Given the description of an element on the screen output the (x, y) to click on. 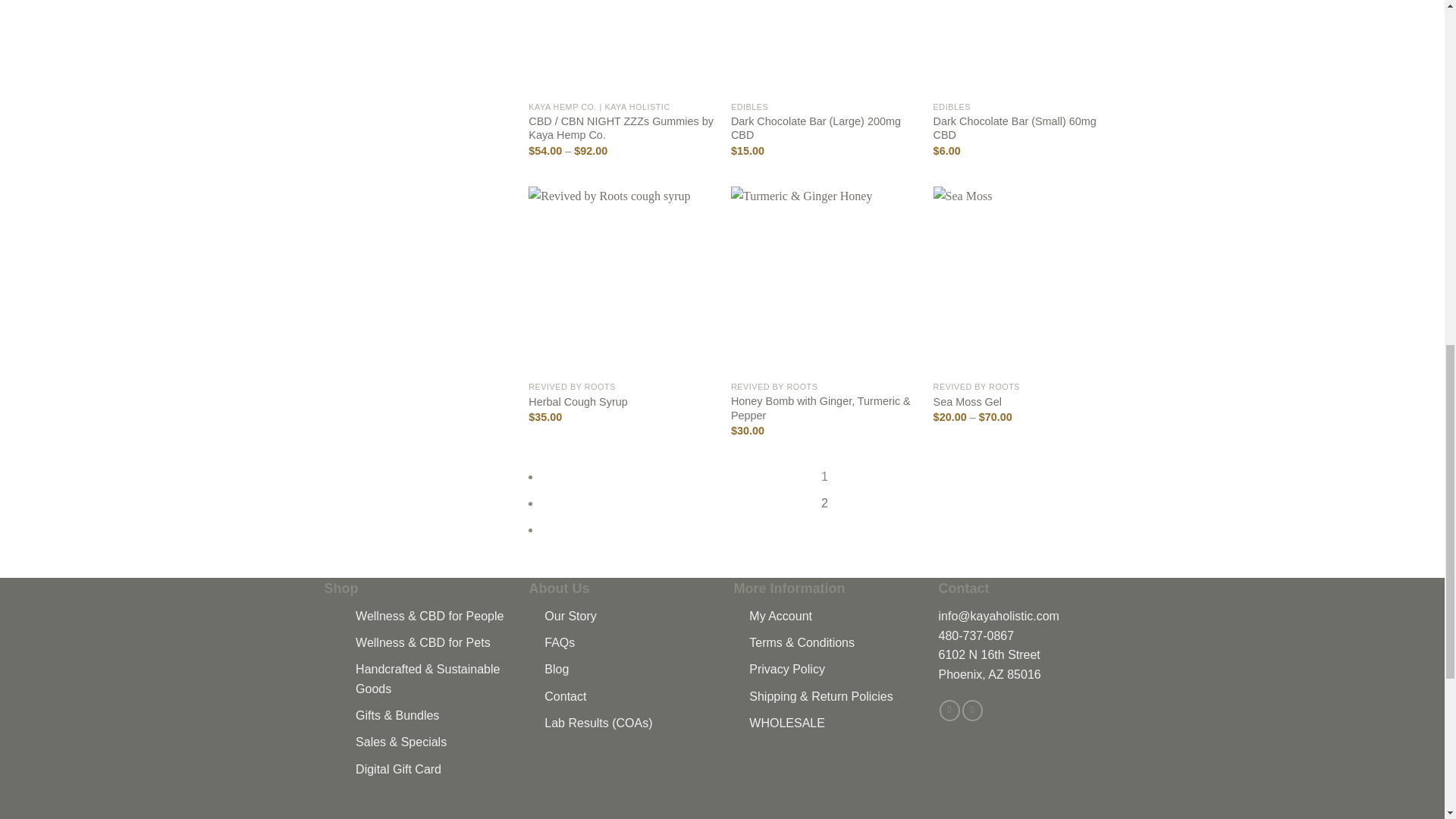
Follow on Instagram (972, 710)
Follow on Facebook (949, 710)
